Given the description of an element on the screen output the (x, y) to click on. 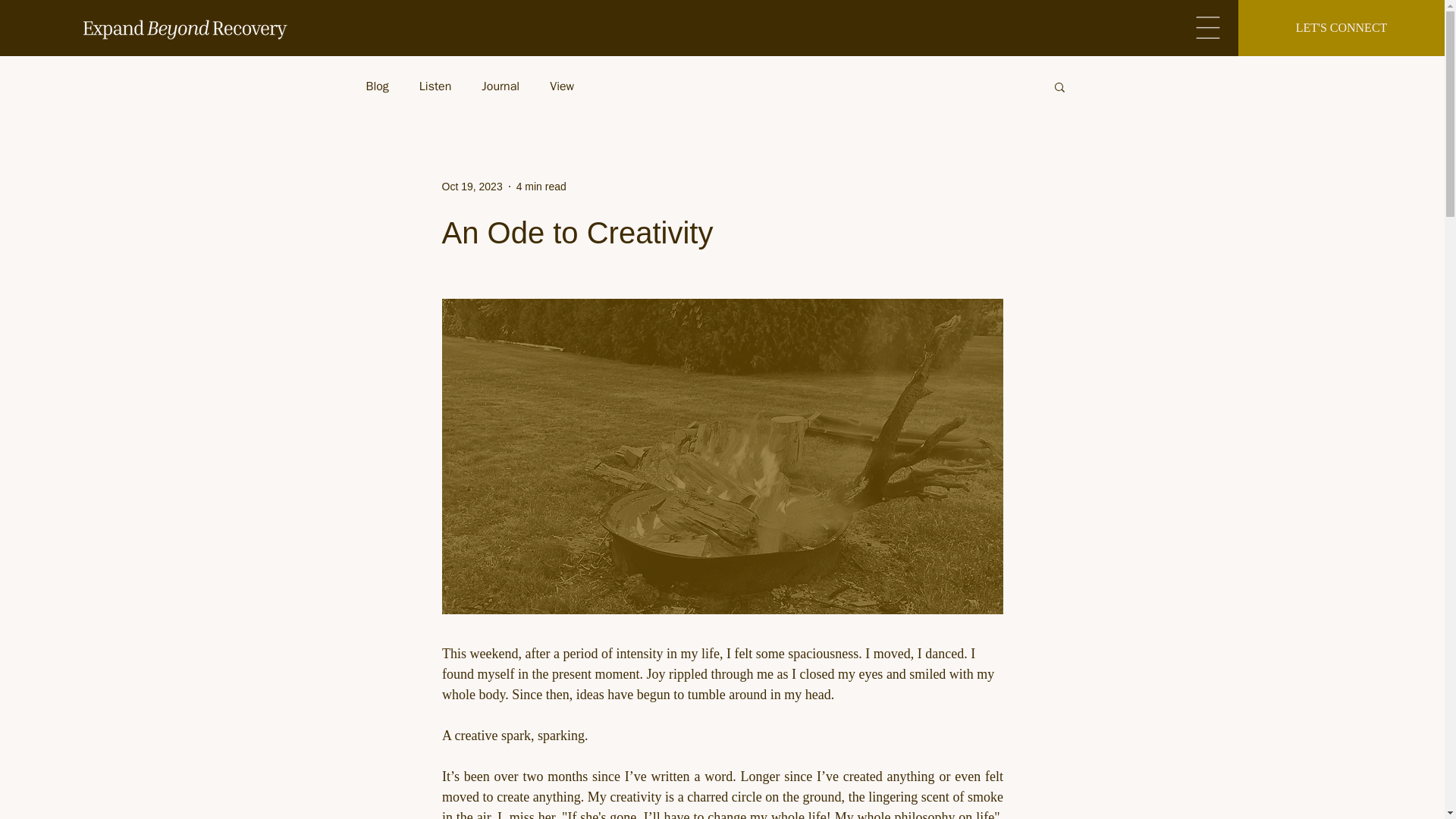
Oct 19, 2023 (471, 186)
View (561, 86)
4 min read (541, 186)
Journal (500, 86)
Blog (376, 86)
Listen (435, 86)
